Given the description of an element on the screen output the (x, y) to click on. 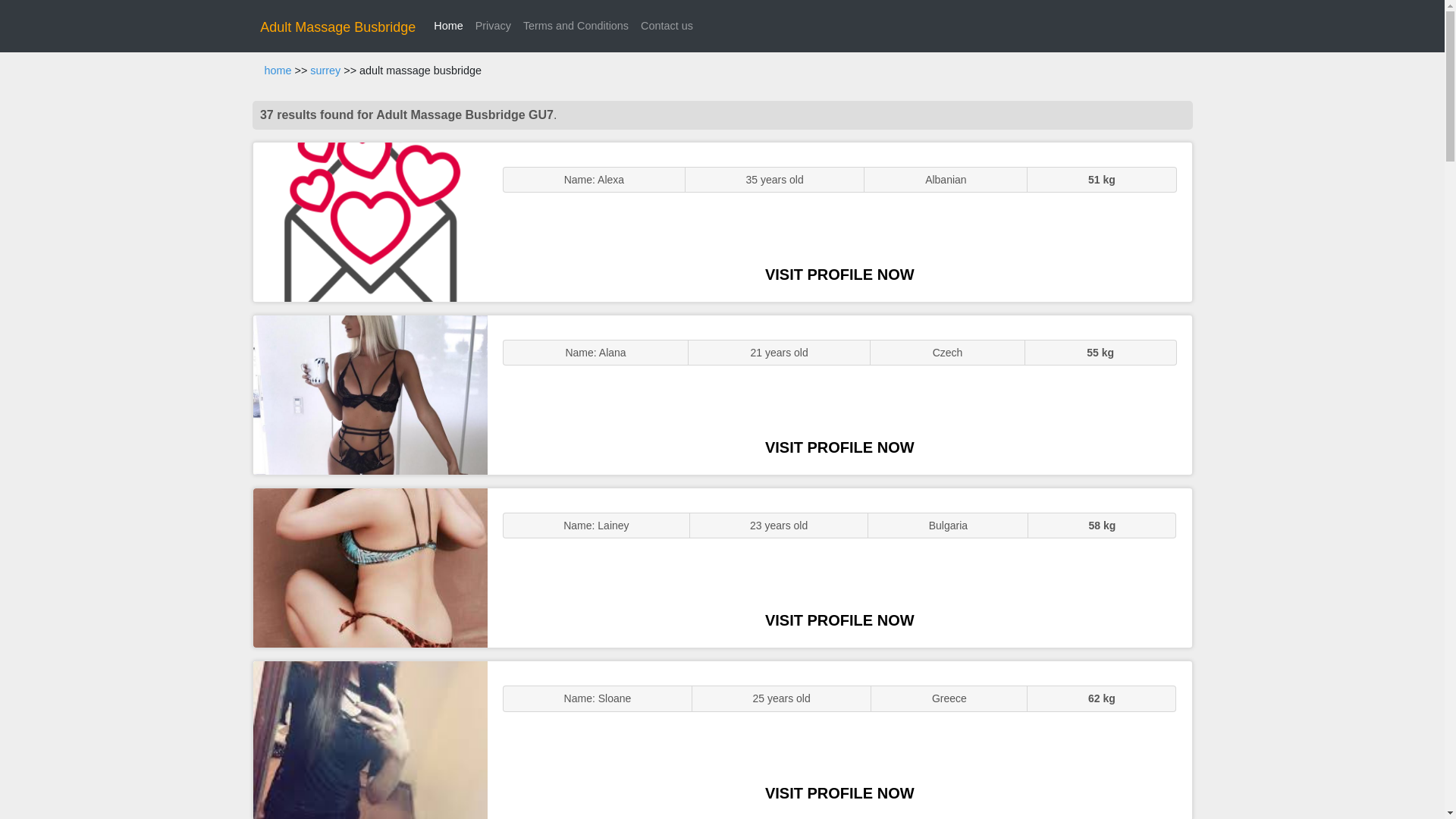
 ENGLISH STUNNER (370, 222)
Privacy (492, 25)
Adult Massage Busbridge (337, 27)
VISIT PROFILE NOW (839, 619)
Terms and Conditions (575, 25)
VISIT PROFILE NOW (839, 446)
Sluts (370, 739)
VISIT PROFILE NOW (839, 274)
VISIT PROFILE NOW (839, 792)
Contact us (666, 25)
